Given the description of an element on the screen output the (x, y) to click on. 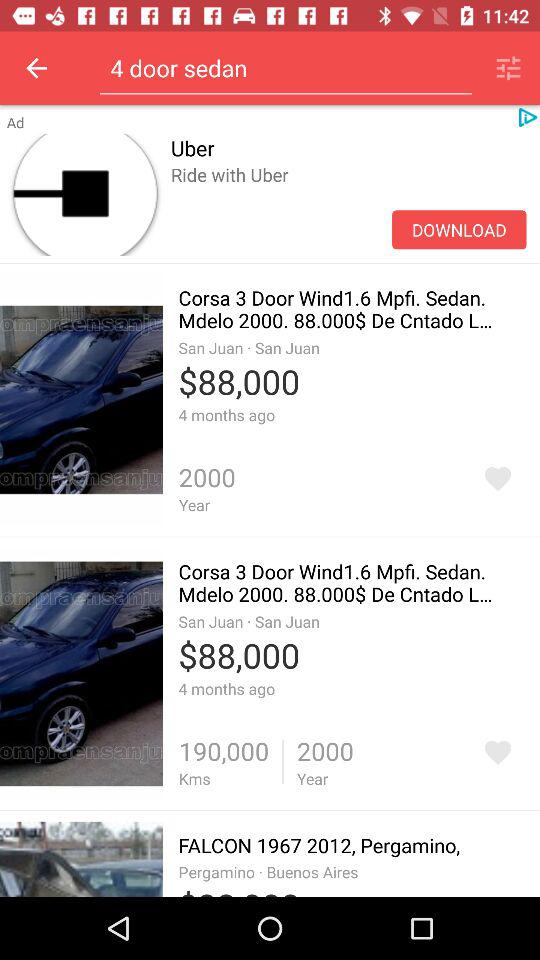
go to previous (36, 68)
